Given the description of an element on the screen output the (x, y) to click on. 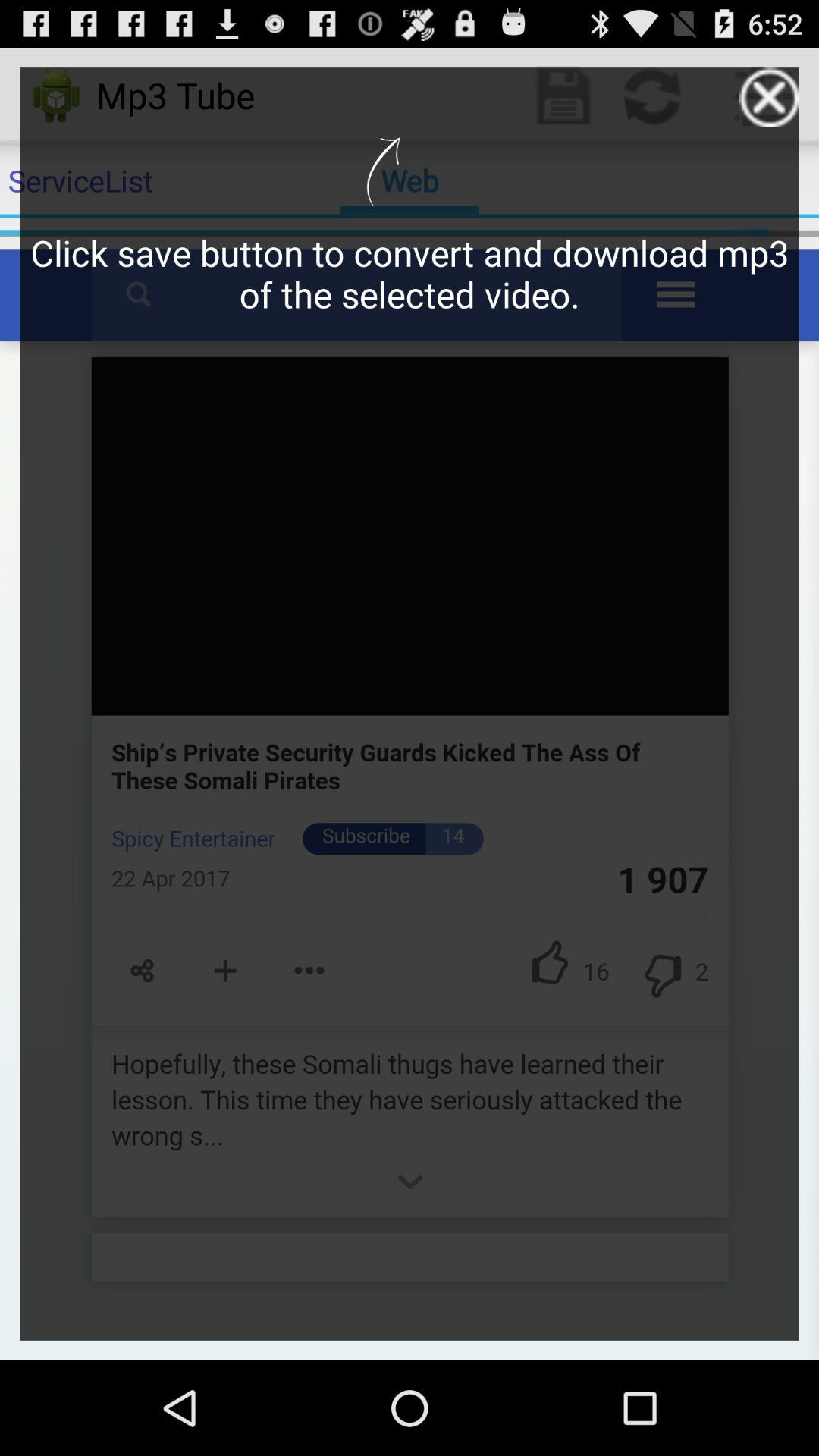
turn off the icon to the right of g app (769, 97)
